Given the description of an element on the screen output the (x, y) to click on. 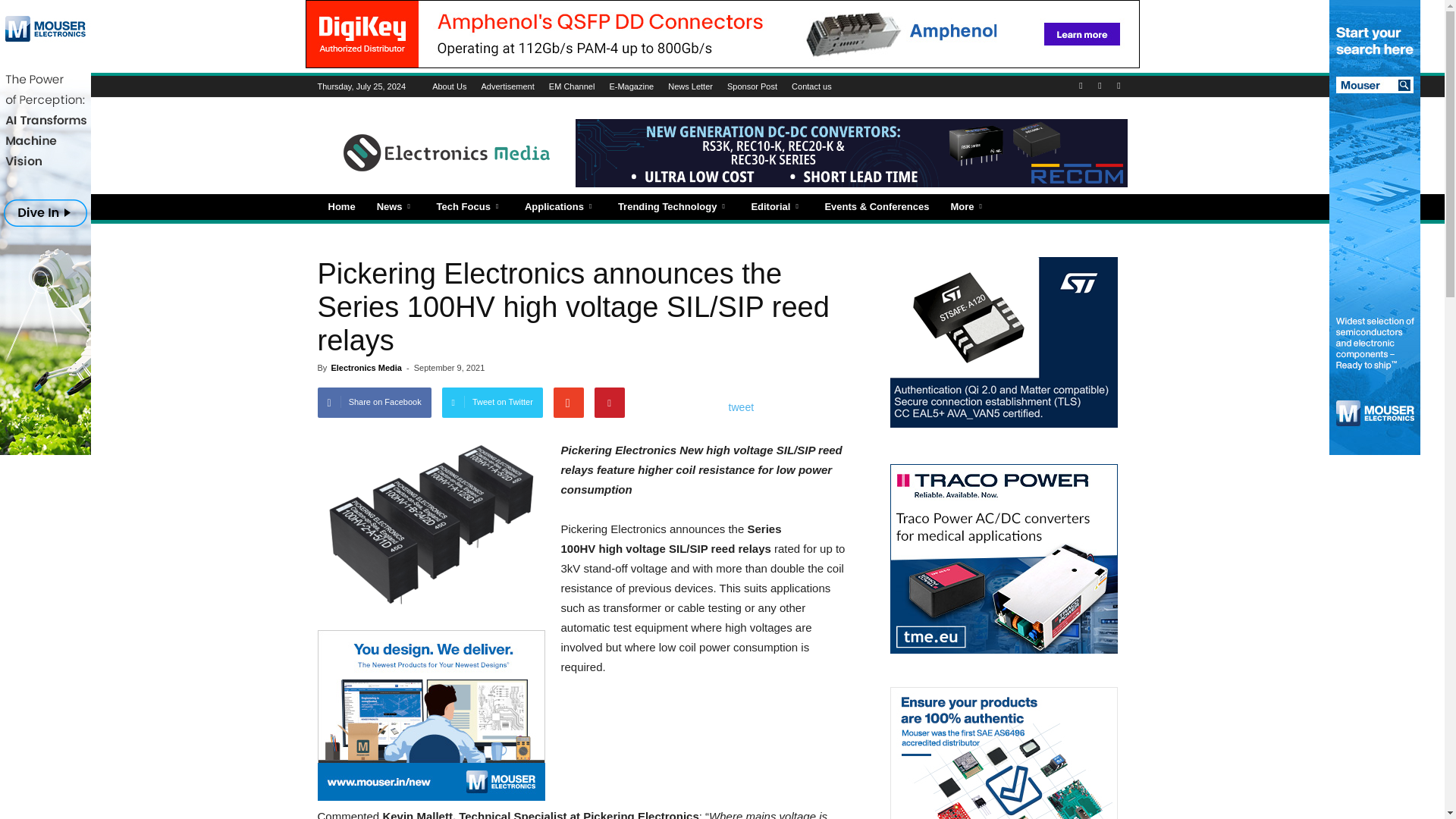
reed relays for low power consumption (430, 527)
advertisement (430, 714)
